Given the description of an element on the screen output the (x, y) to click on. 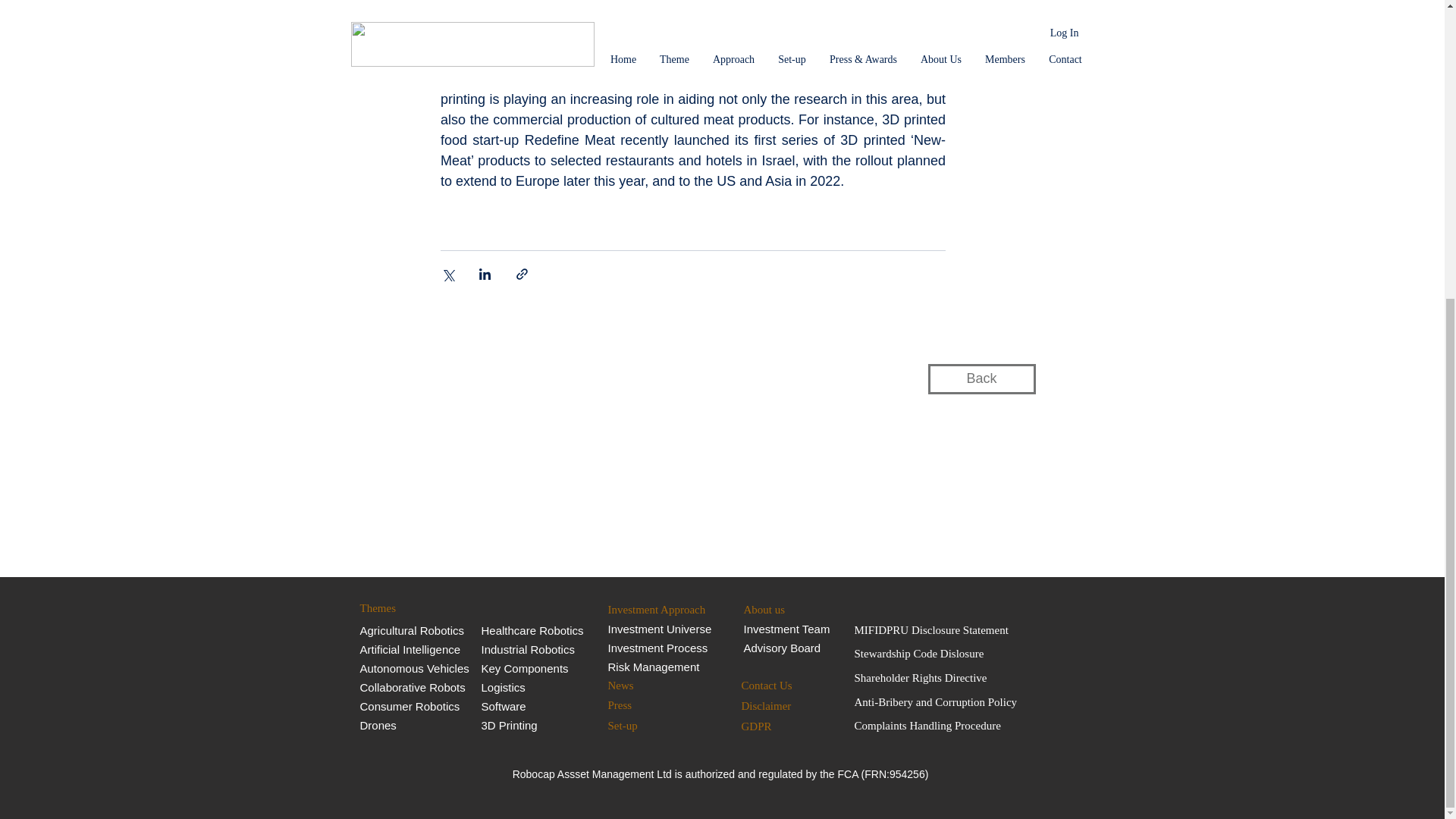
Key Components (523, 668)
Investment Process (657, 647)
Healthcare Robotics (531, 629)
Industrial Robotics (526, 649)
Autonomous Vehicles (413, 668)
Consumer Robotics (409, 705)
Logistics (502, 687)
Back (981, 378)
Collaborative Robots (413, 687)
Risk Management (654, 666)
Investment Universe (659, 628)
Artificial Intelligence (411, 649)
Software (502, 705)
Themes (419, 608)
3D Printing (508, 724)
